Given the description of an element on the screen output the (x, y) to click on. 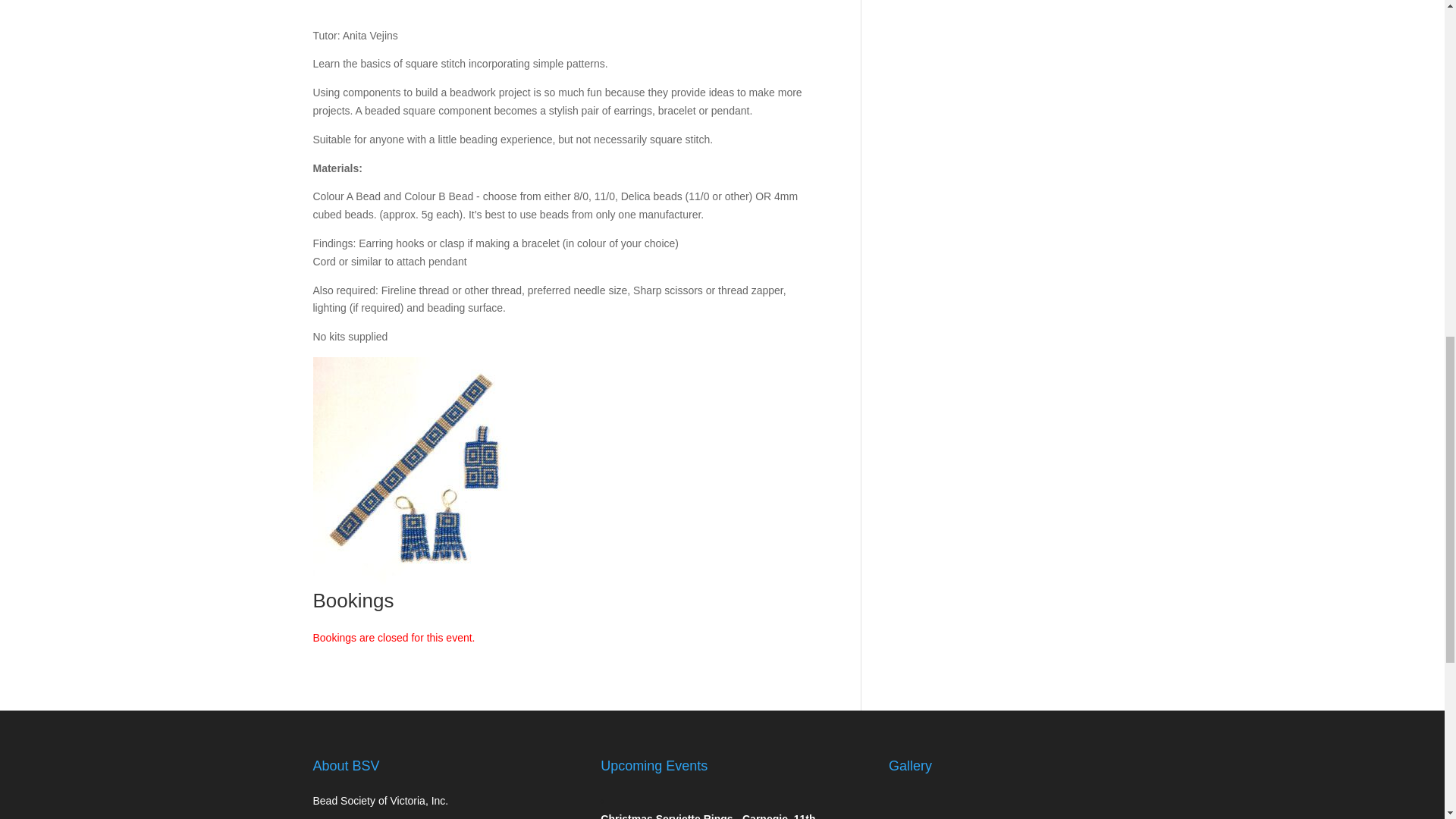
Bead Challenge Nita Weller first place public vote (1004, 805)
Bead Challenge 2023 Lynda Taylor 1 (924, 805)
Members Original Joanne Ivy, Aegean Sea, 1st Place (1082, 805)
